Given the description of an element on the screen output the (x, y) to click on. 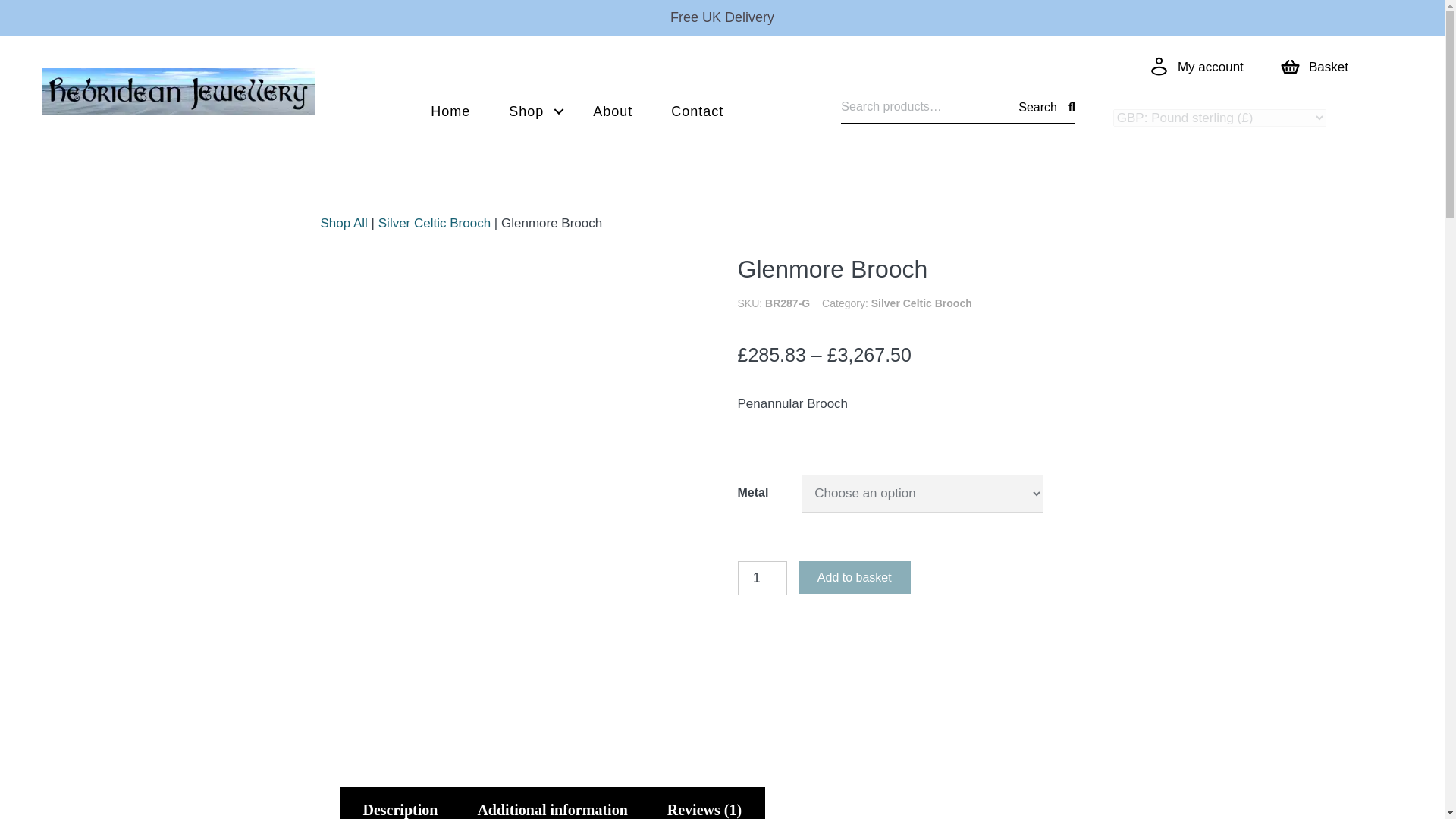
Buy Celtic Jewellery (531, 111)
1 (761, 578)
Home (450, 111)
Shop (531, 111)
Hebridean-Jewellery (178, 91)
